Given the description of an element on the screen output the (x, y) to click on. 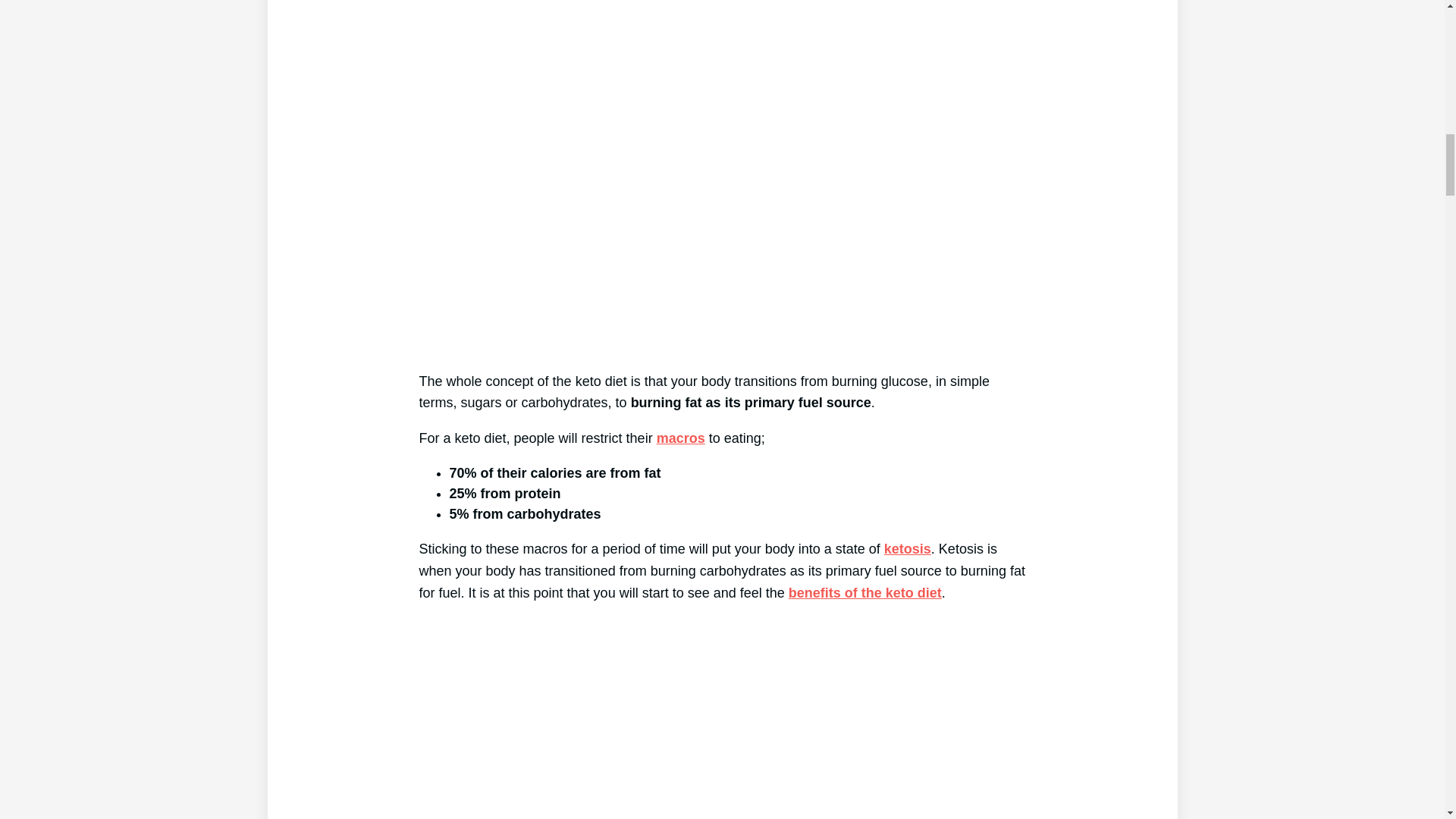
benefits of the keto diet (865, 592)
macros (680, 437)
ketosis (907, 548)
